Given the description of an element on the screen output the (x, y) to click on. 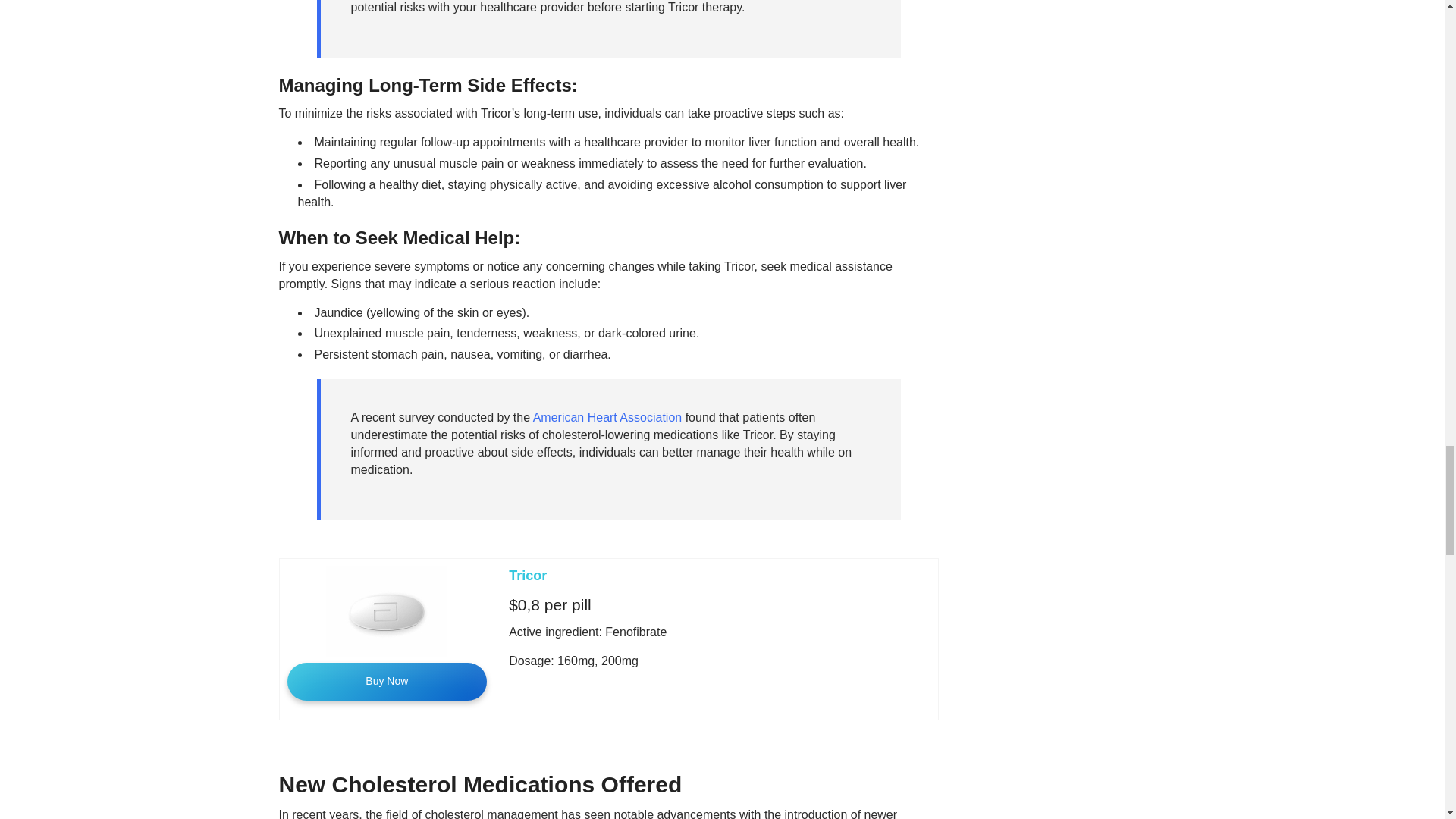
Tricor (527, 575)
Buy Now (386, 681)
American Heart Association (607, 417)
Buy Now (386, 681)
Tricor (527, 575)
